Given the description of an element on the screen output the (x, y) to click on. 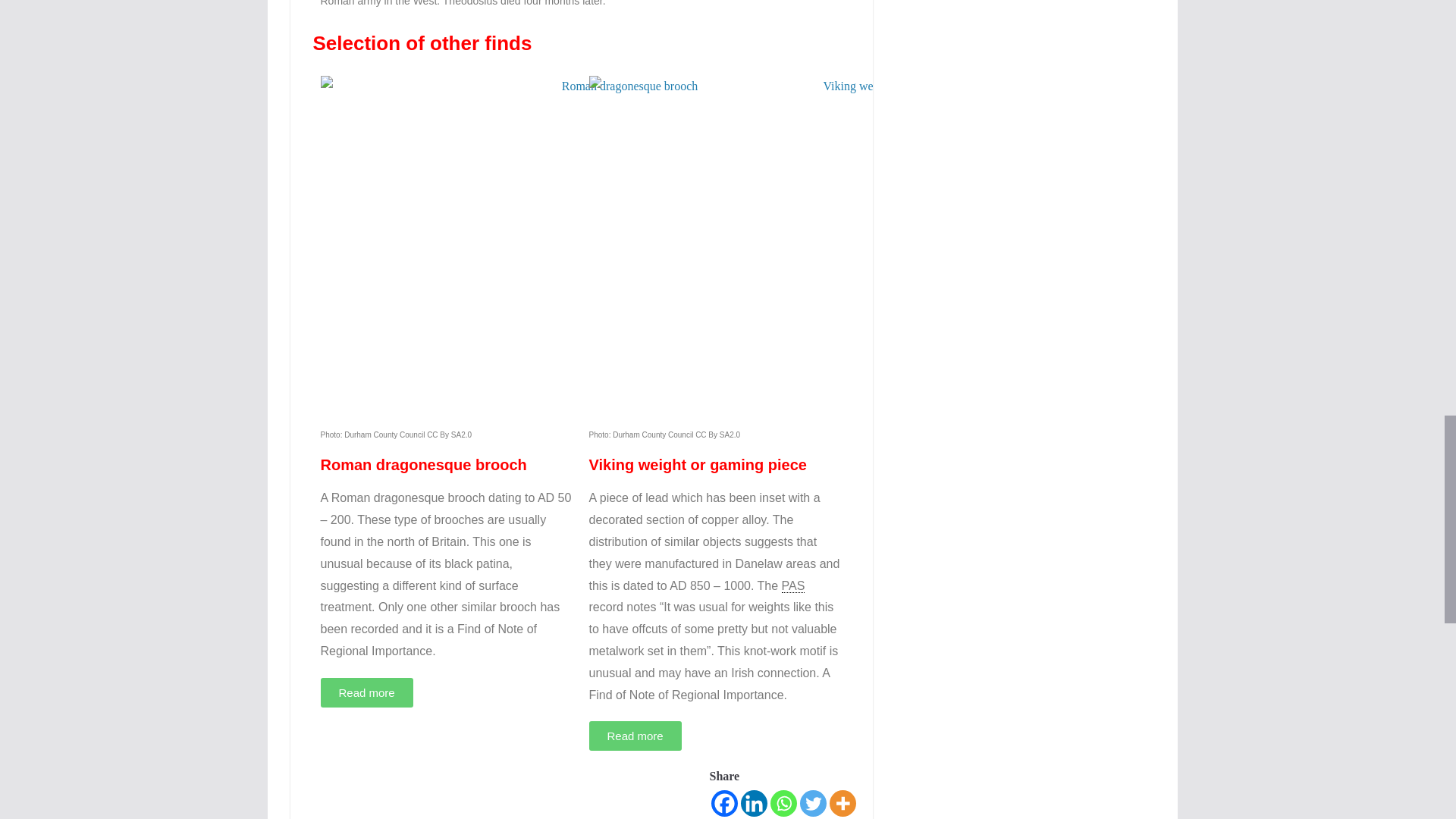
Read more (366, 692)
Read more (634, 736)
Facebook (724, 803)
More (842, 803)
Whatsapp (783, 803)
Portable Antiquities Scheme (793, 585)
Linkedin (753, 803)
Twitter (812, 803)
